Given the description of an element on the screen output the (x, y) to click on. 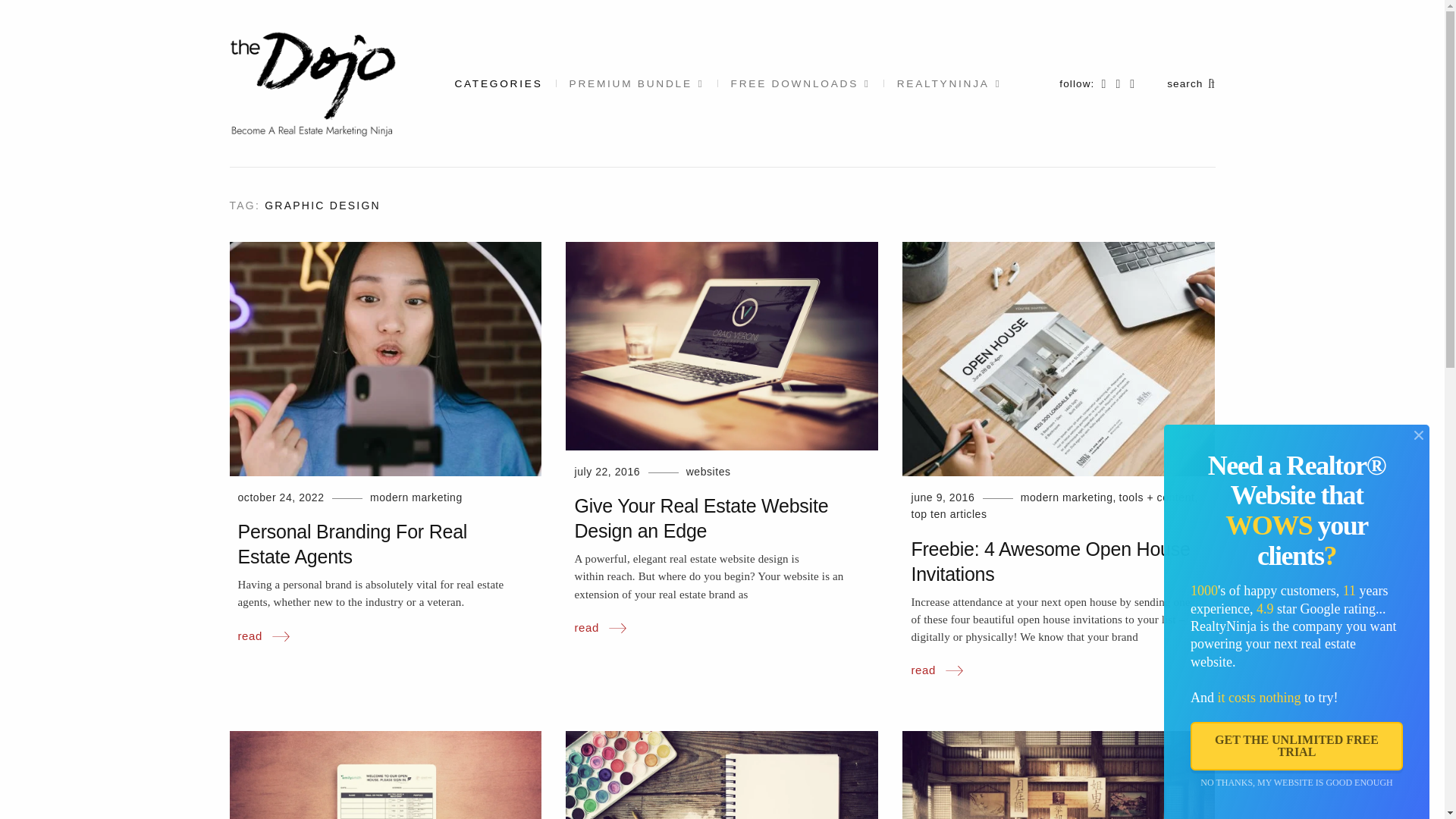
Categories (504, 83)
REALTYNINJA (942, 83)
websites (707, 471)
read (263, 636)
FREE DOWNLOADS (800, 83)
modern marketing (416, 497)
CATEGORIES (504, 83)
read (599, 628)
search (1190, 83)
modern marketing (1066, 497)
Premium Bundle (636, 83)
PREMIUM BUNDLE (636, 83)
Give Your Real Estate Website Design an Edge (700, 518)
Personal Branding For Real Estate Agents (352, 543)
